Given the description of an element on the screen output the (x, y) to click on. 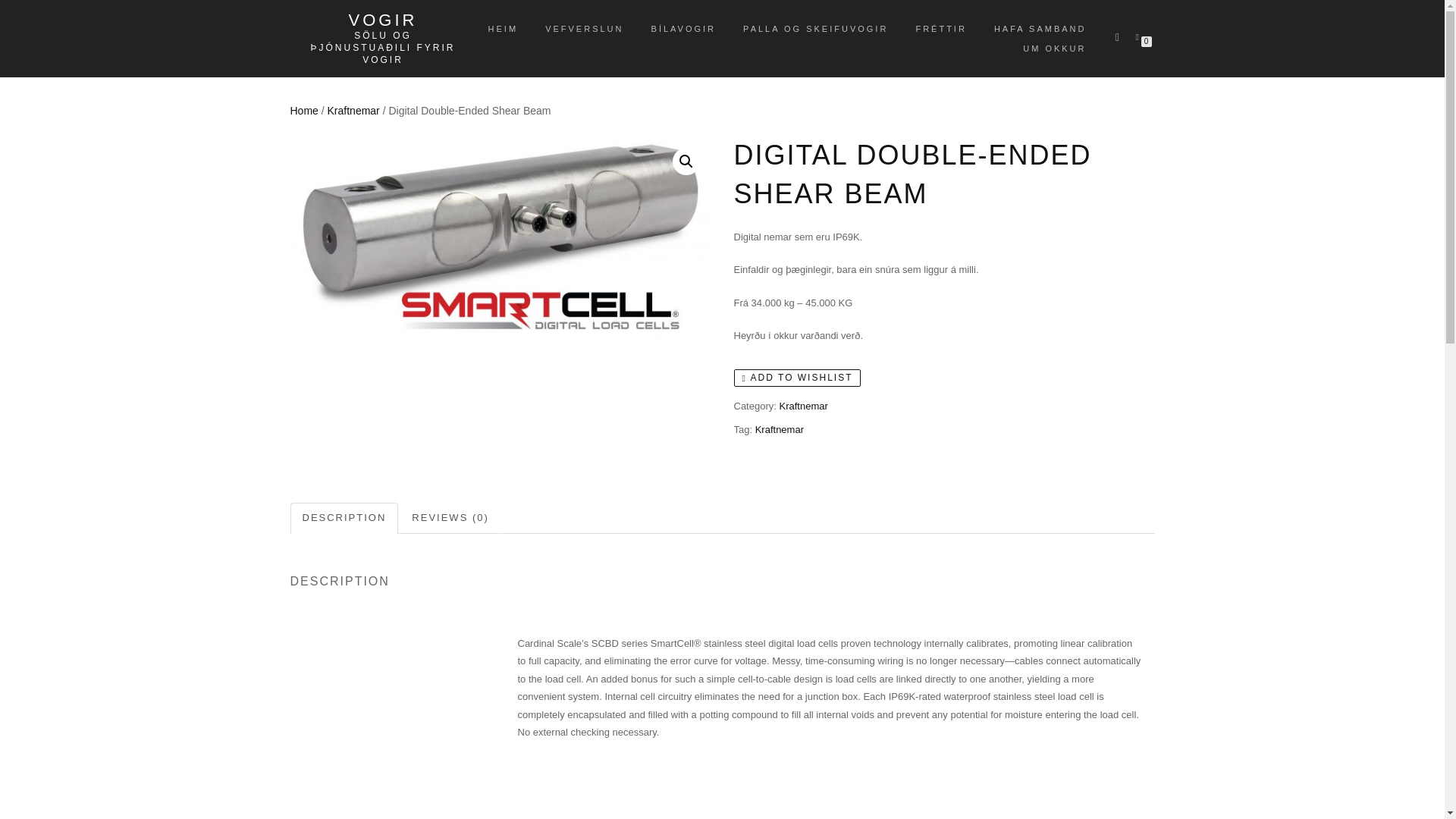
VOGIR (382, 20)
UM OKKUR (1054, 48)
PALLA OG SKEIFUVOGIR (815, 28)
ADD TO WISHLIST (797, 377)
HAFA SAMBAND (1039, 28)
Home (303, 110)
VEFVERSLUN (584, 28)
DESCRIPTION (343, 517)
Kraftnemar (779, 429)
View your shopping cart (1139, 35)
HEIM (503, 28)
SCBD75 (499, 241)
Kraftnemar (802, 405)
0 (1139, 35)
